Given the description of an element on the screen output the (x, y) to click on. 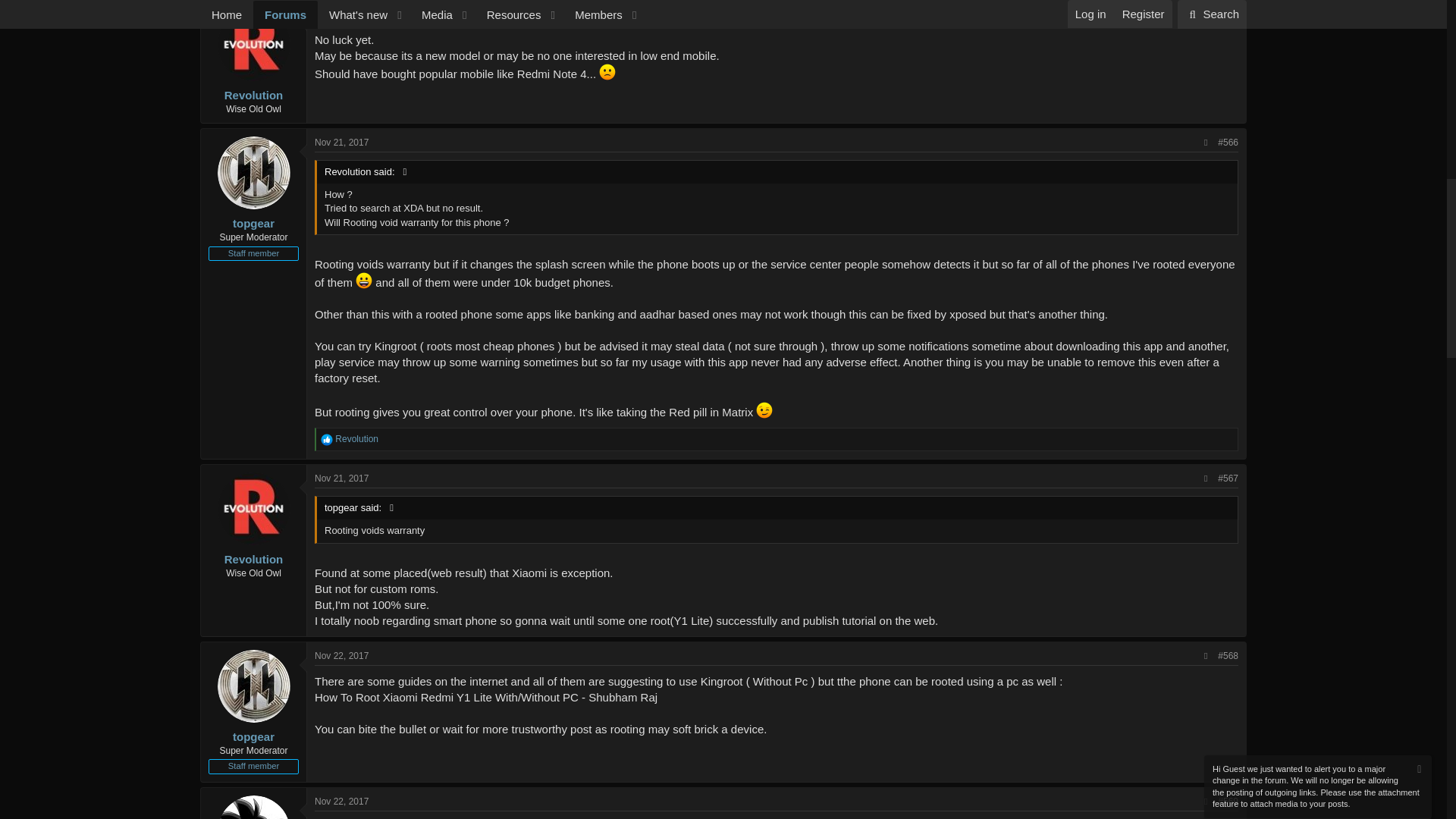
Nov 21, 2017 at 4:27 PM (341, 142)
Nov 20, 2017 at 5:28 AM (341, 14)
